Given the description of an element on the screen output the (x, y) to click on. 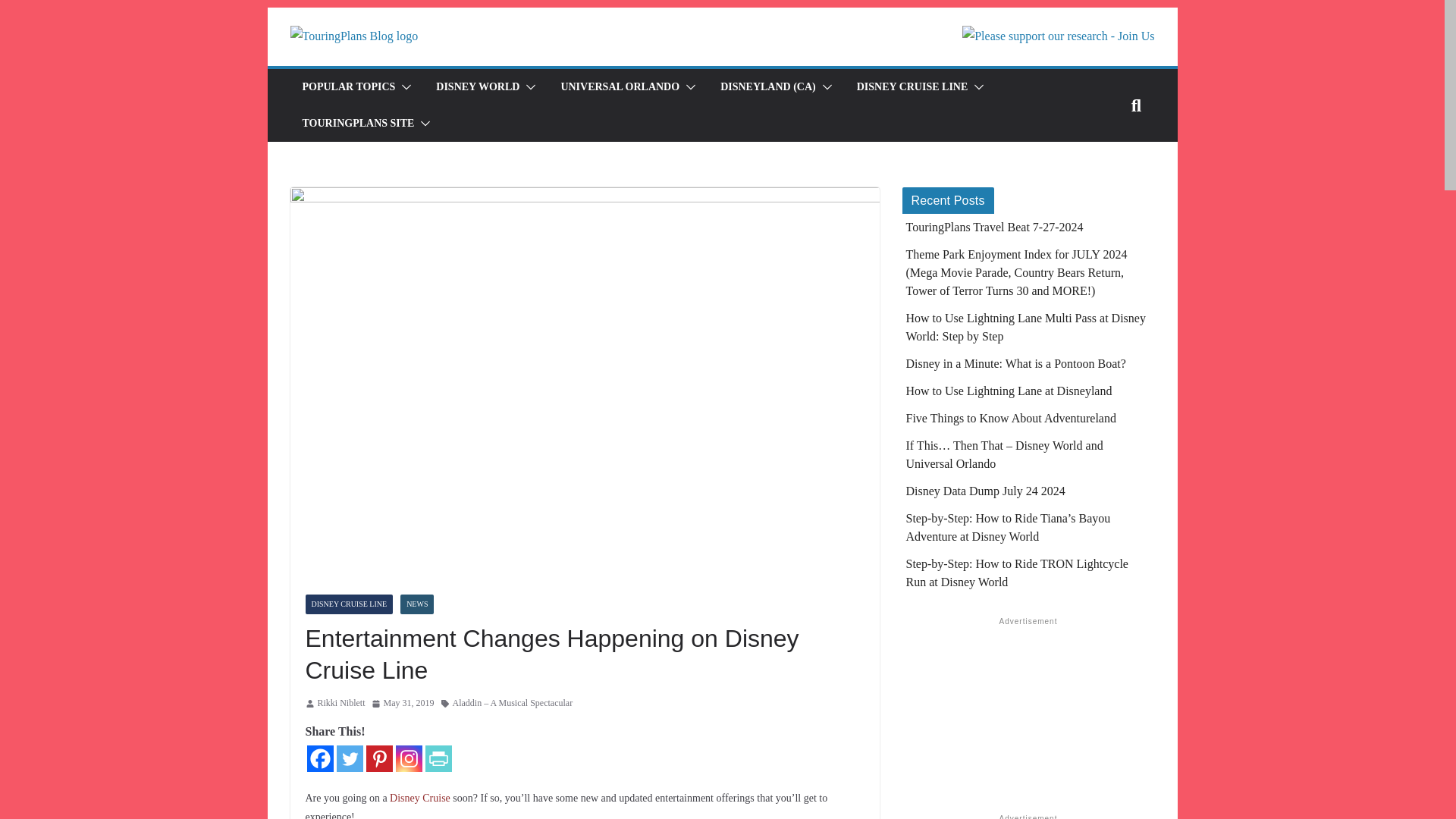
Instagram (409, 758)
TOURINGPLANS SITE (357, 123)
DISNEY CRUISE LINE (912, 86)
DISNEY WORLD (477, 86)
Facebook (319, 758)
6:50 pm (402, 703)
Pinterest (378, 758)
POPULAR TOPICS (347, 86)
PrintFriendly (438, 758)
Twitter (349, 758)
UNIVERSAL ORLANDO (619, 86)
Rikki Niblett (341, 703)
